Given the description of an element on the screen output the (x, y) to click on. 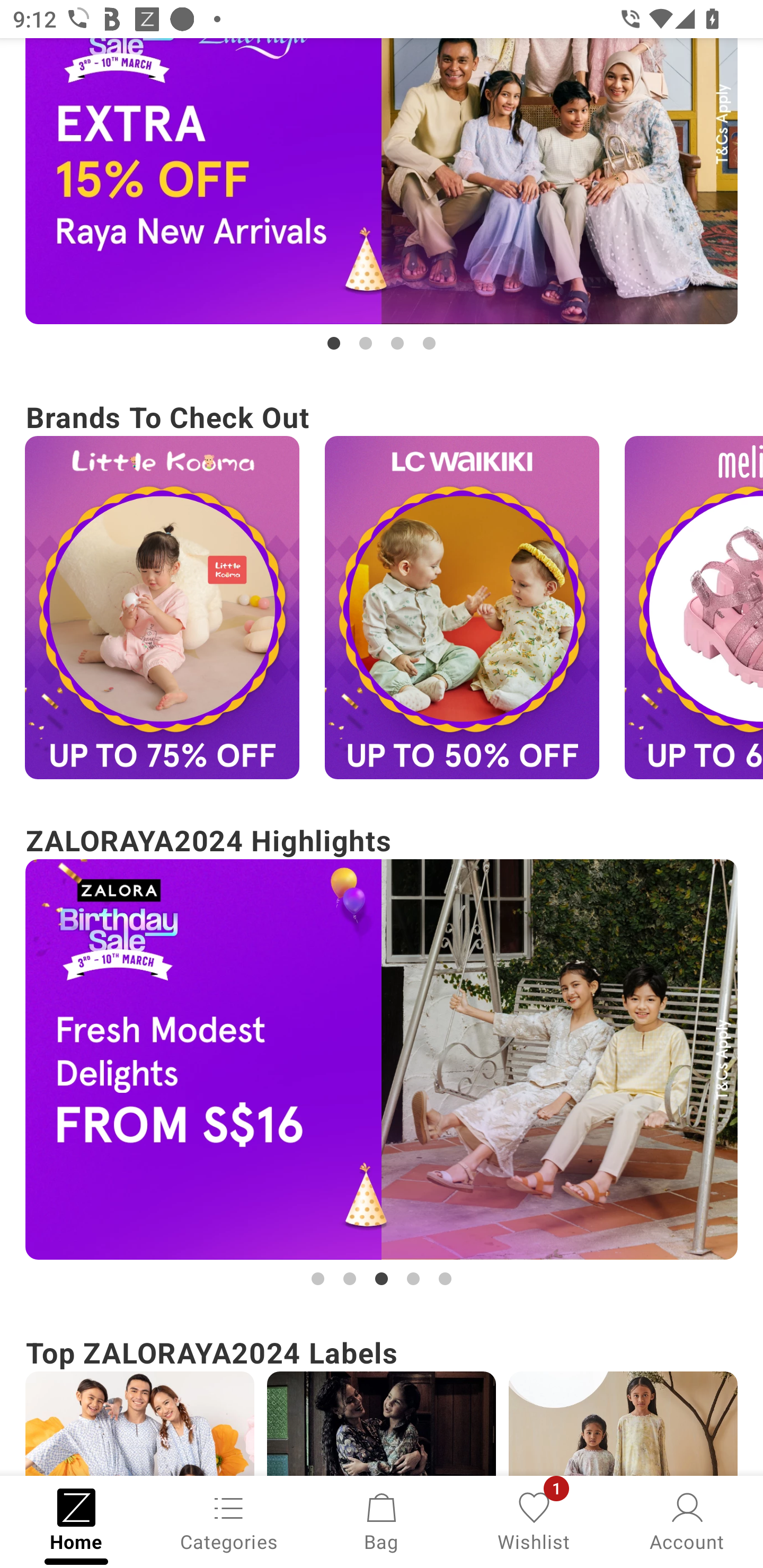
Campaign banner (381, 180)
Campaign banner (162, 607)
Campaign banner (461, 607)
Campaign banner (693, 607)
ZALORAYA2024 Highlights Campaign banner (381, 1054)
Campaign banner (381, 1059)
Campaign banner (139, 1423)
Campaign banner (381, 1423)
Campaign banner (622, 1423)
Categories (228, 1519)
Bag (381, 1519)
Wishlist, 1 new notification Wishlist (533, 1519)
Account (686, 1519)
